Given the description of an element on the screen output the (x, y) to click on. 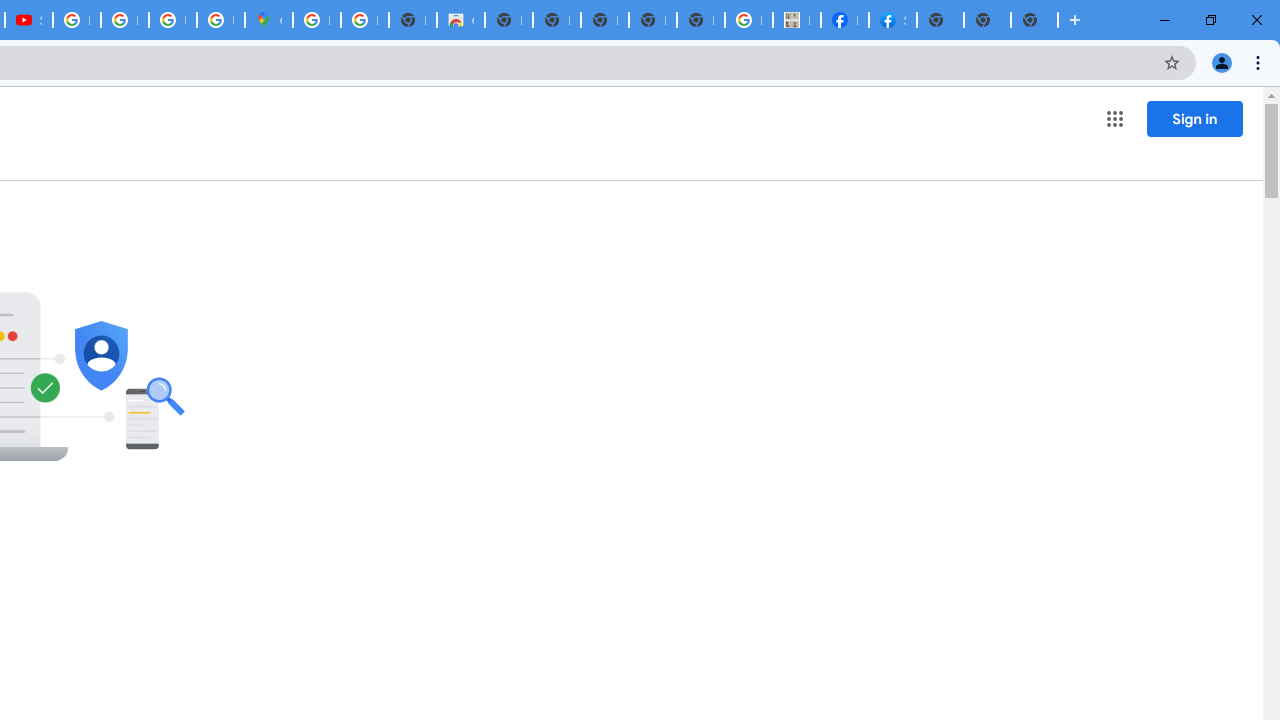
New Tab (939, 20)
